Given the description of an element on the screen output the (x, y) to click on. 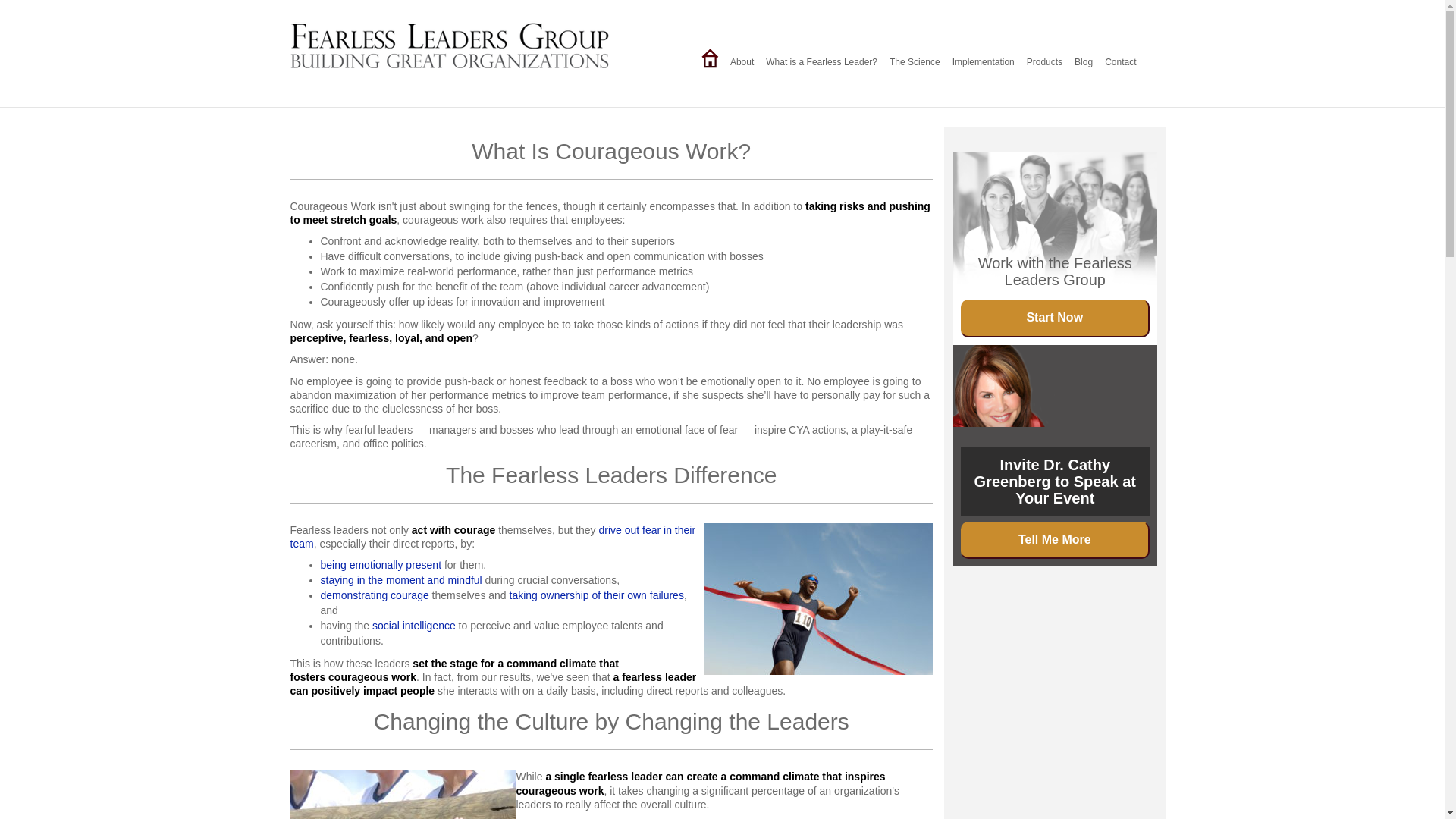
Log In (1061, 17)
Products (1044, 62)
The Science (914, 62)
Implementation (983, 62)
About (741, 62)
What is a Fearless Leader? (821, 62)
